Given the description of an element on the screen output the (x, y) to click on. 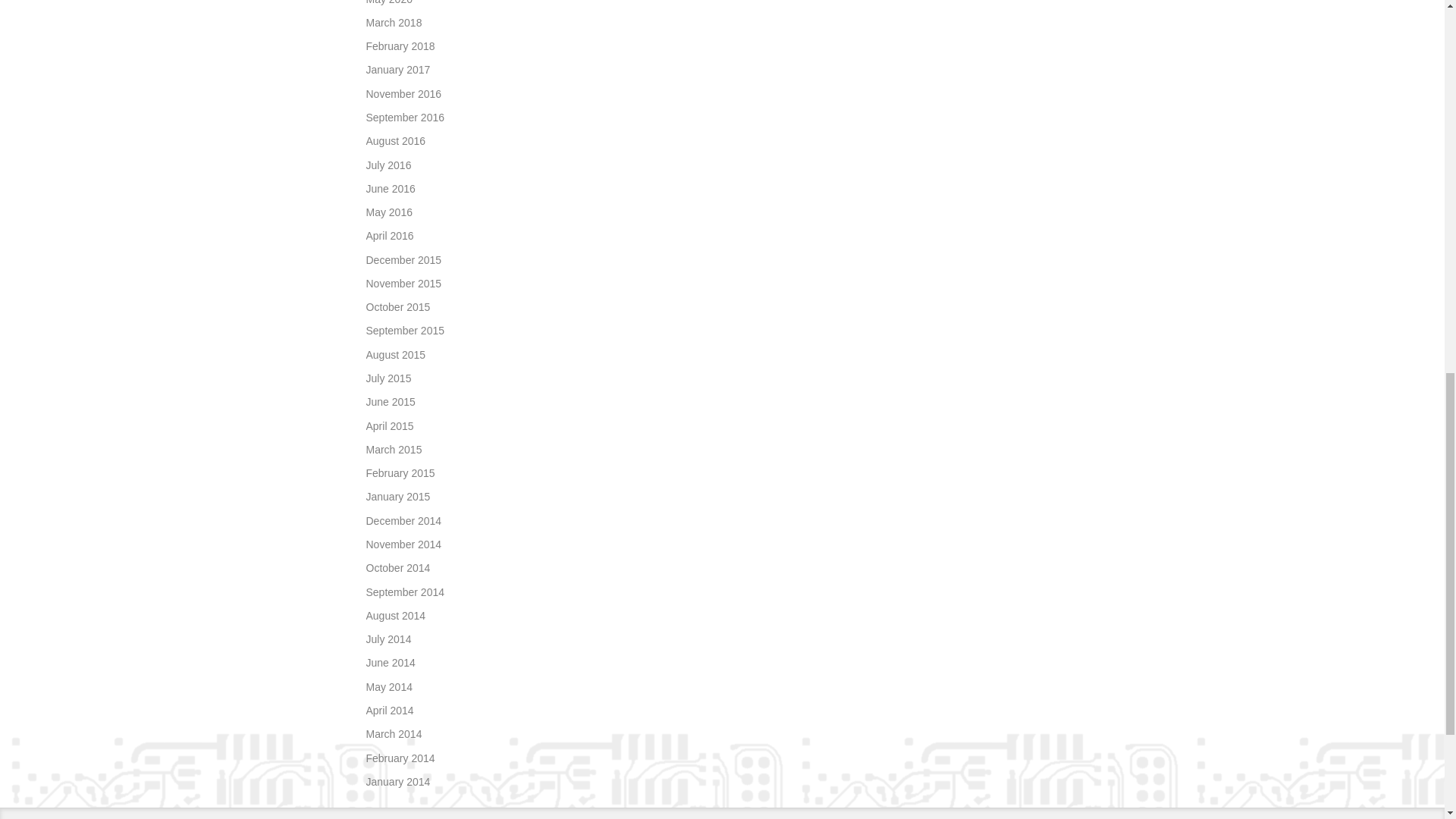
March 2018 (393, 22)
January 2017 (397, 69)
May 2020 (388, 2)
February 2018 (399, 46)
